Given the description of an element on the screen output the (x, y) to click on. 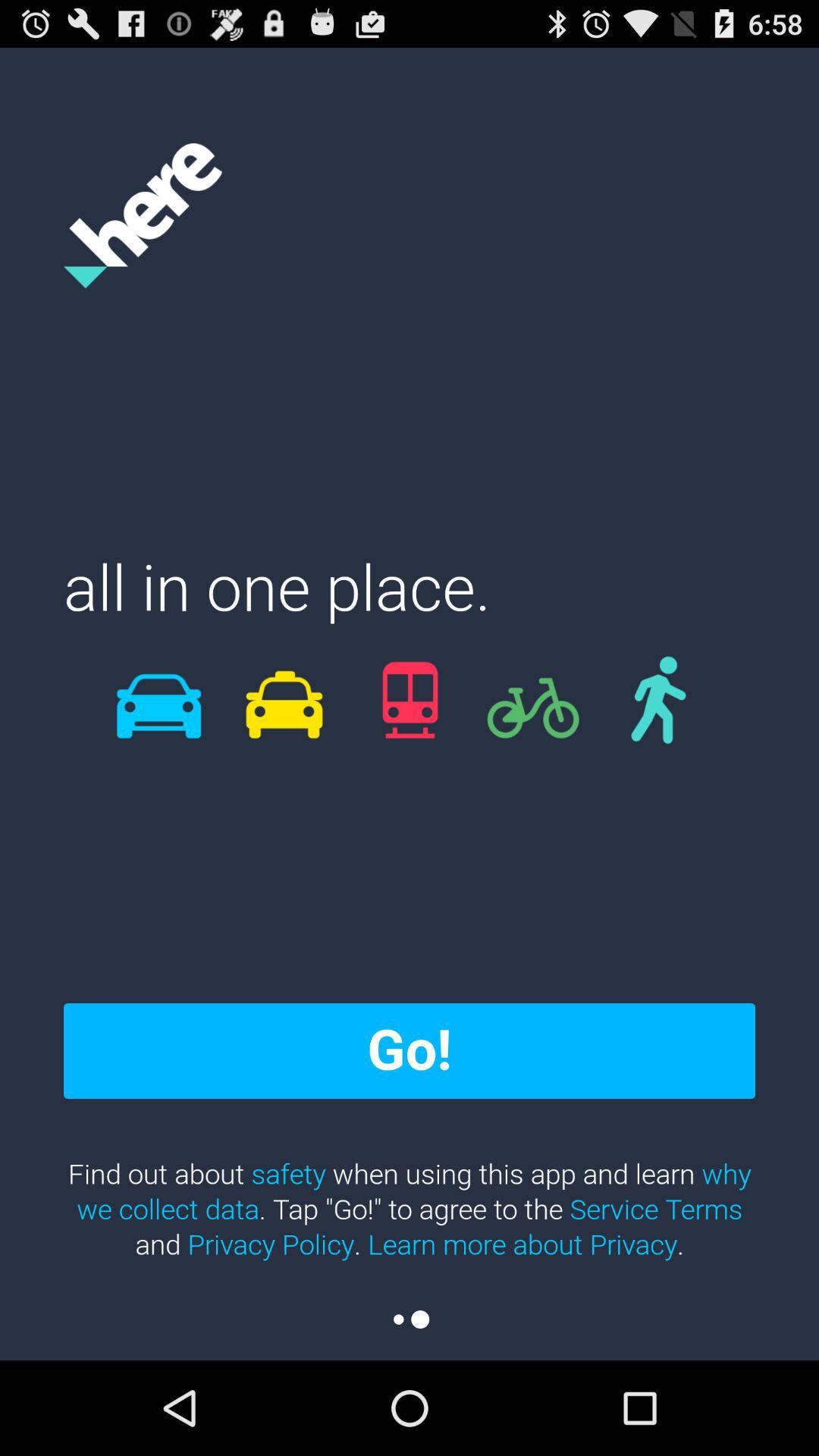
tap the icon below go! icon (409, 1208)
